Given the description of an element on the screen output the (x, y) to click on. 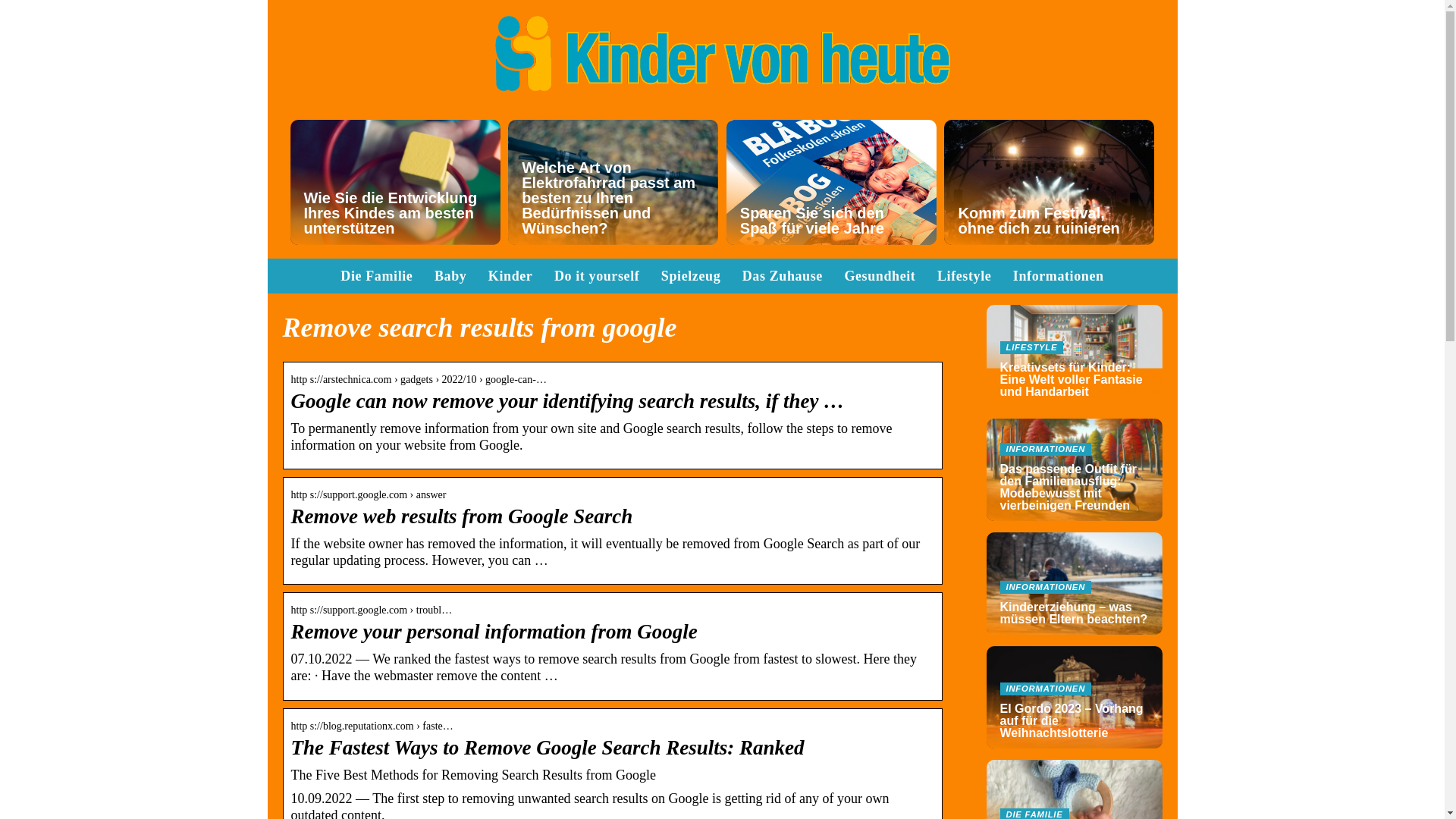
Baby (449, 360)
Do it yourself (596, 360)
Die Familie (376, 360)
Kinder (509, 360)
Das Zuhause (782, 360)
Informationen (1058, 360)
Spielzeug (690, 360)
Lifestyle (964, 360)
Gesundheit (879, 360)
Komm zum Festival, ohne dich zu ruinieren (1048, 224)
